Given the description of an element on the screen output the (x, y) to click on. 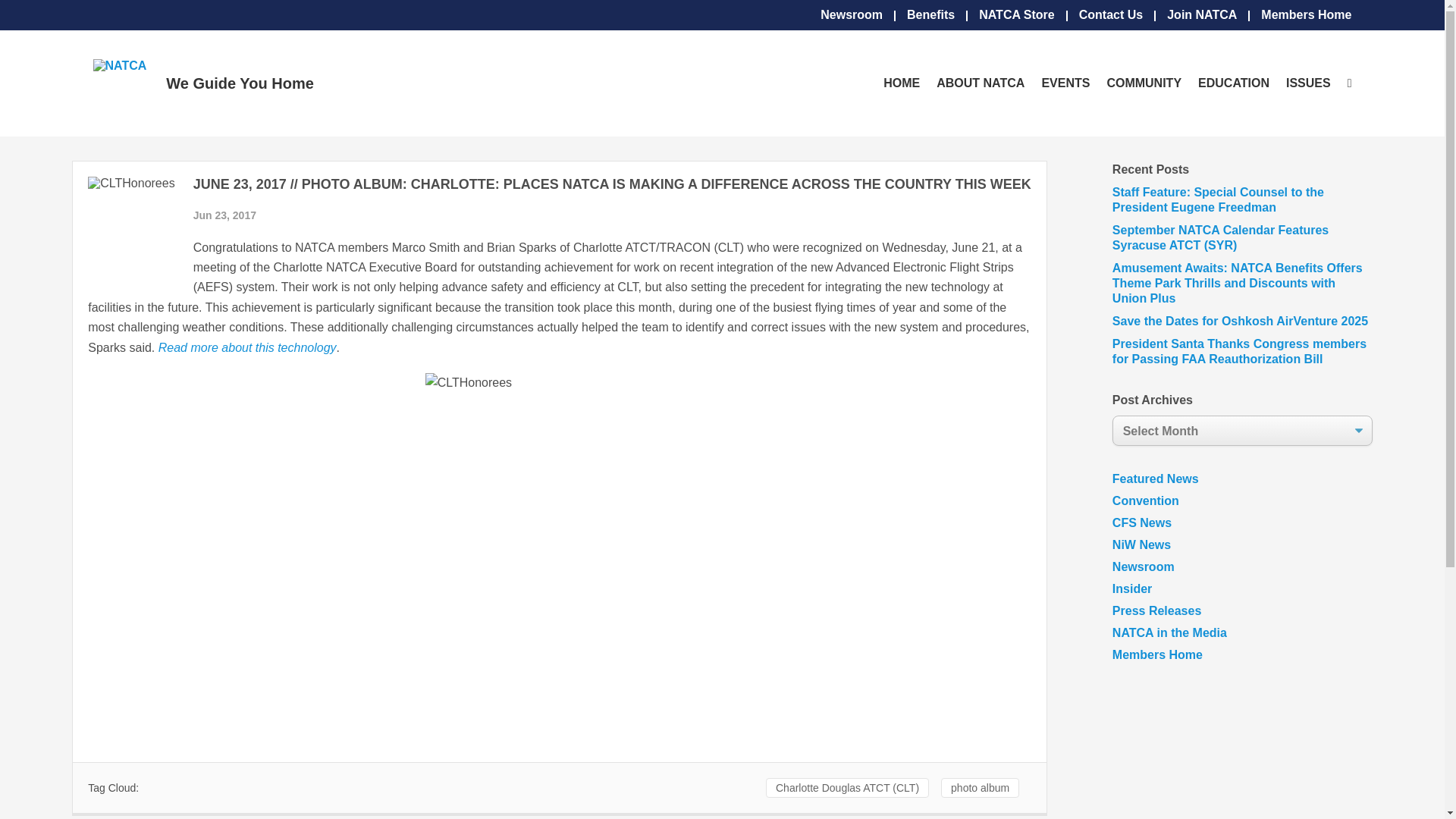
Read more about this technology (247, 347)
Members Home (1305, 15)
Newsroom (851, 15)
Contact Us (1110, 15)
ABOUT NATCA (980, 83)
NATCA Store (1016, 15)
photo album (979, 787)
Benefits (931, 15)
Join NATCA (1201, 15)
